Given the description of an element on the screen output the (x, y) to click on. 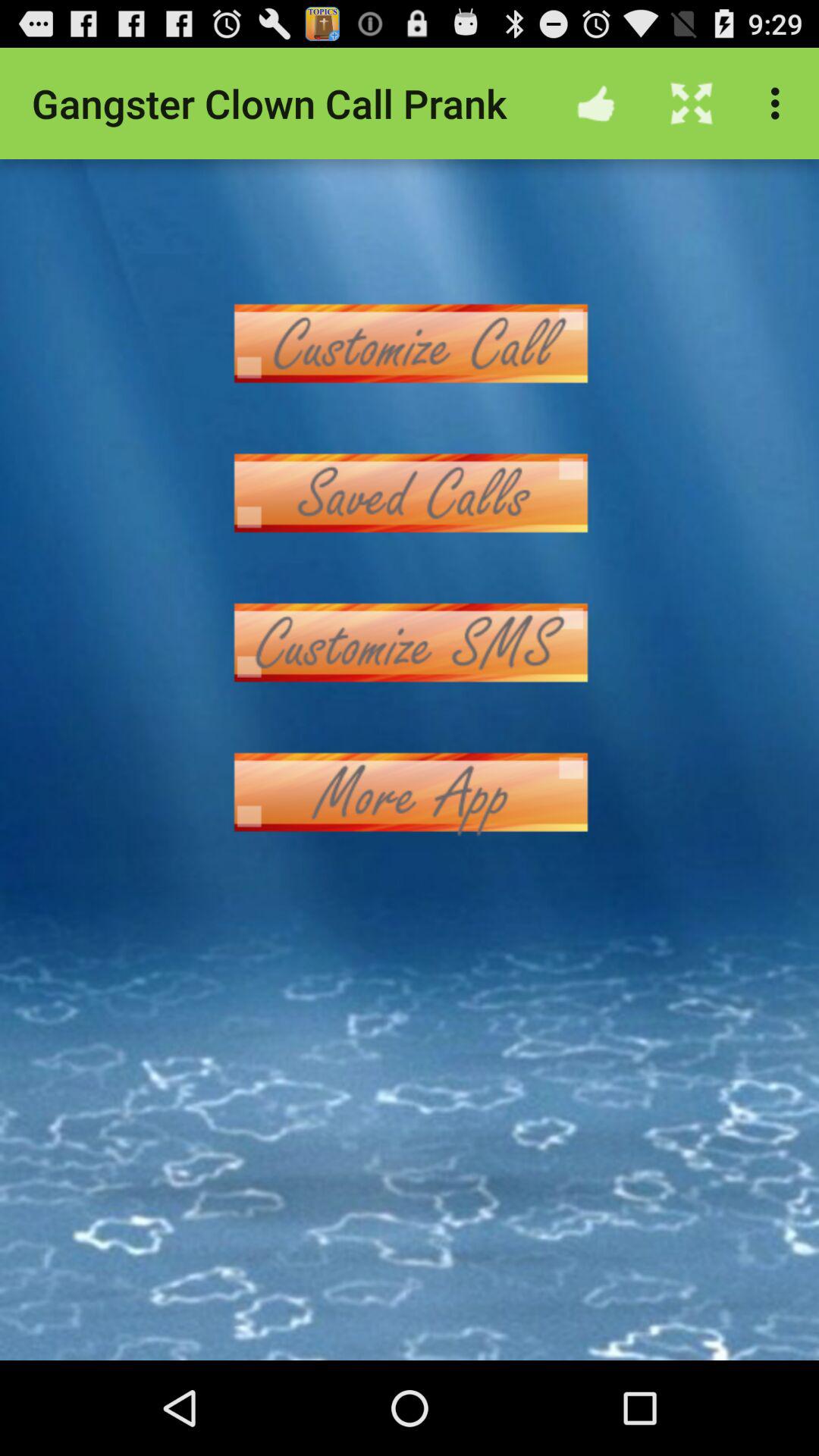
select option (409, 792)
